Given the description of an element on the screen output the (x, y) to click on. 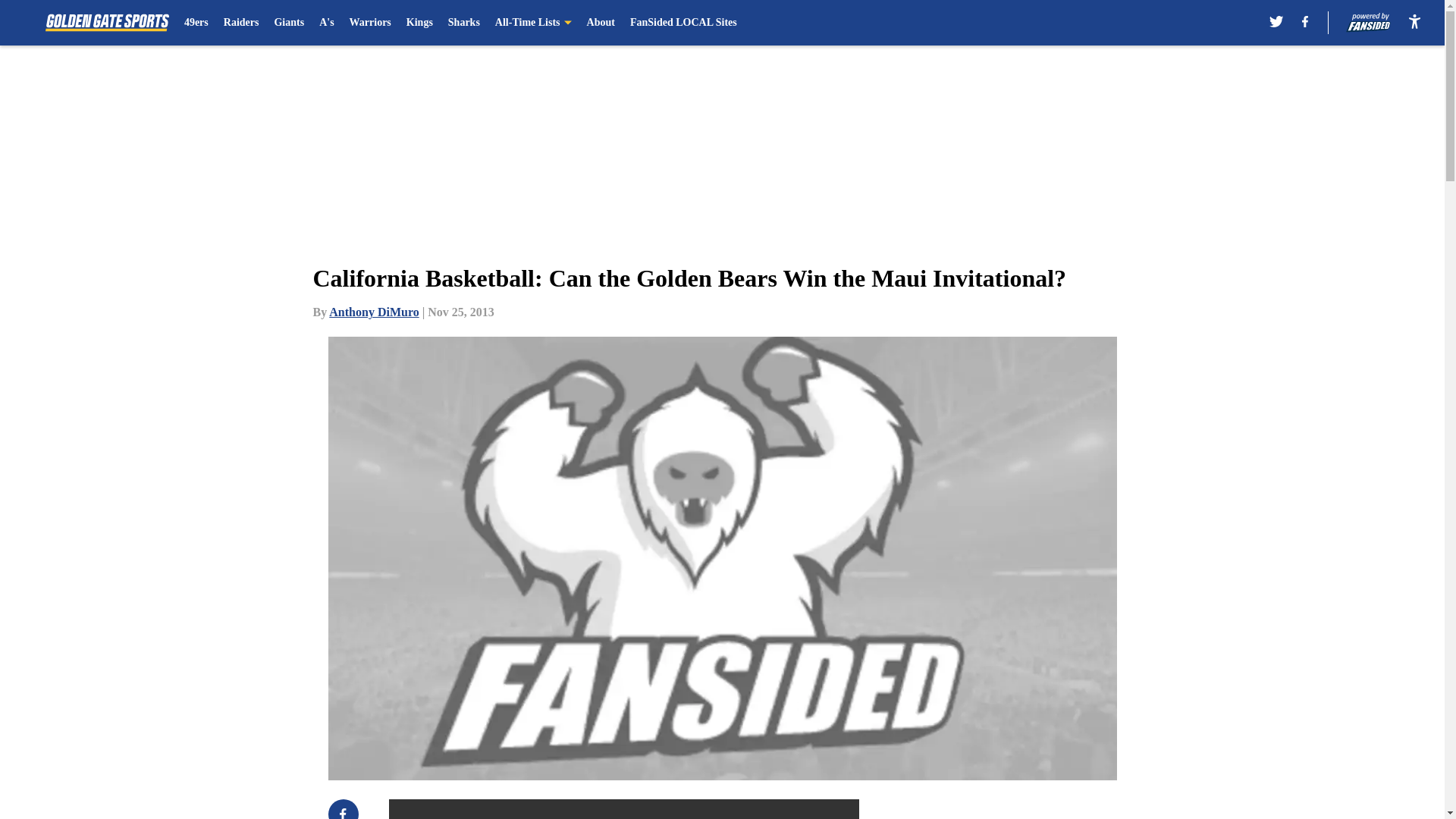
About (600, 22)
Giants (288, 22)
Anthony DiMuro (374, 311)
Raiders (241, 22)
49ers (196, 22)
Sharks (464, 22)
3rd party ad content (1047, 809)
FanSided LOCAL Sites (683, 22)
Kings (419, 22)
A's (325, 22)
Warriors (370, 22)
